Given the description of an element on the screen output the (x, y) to click on. 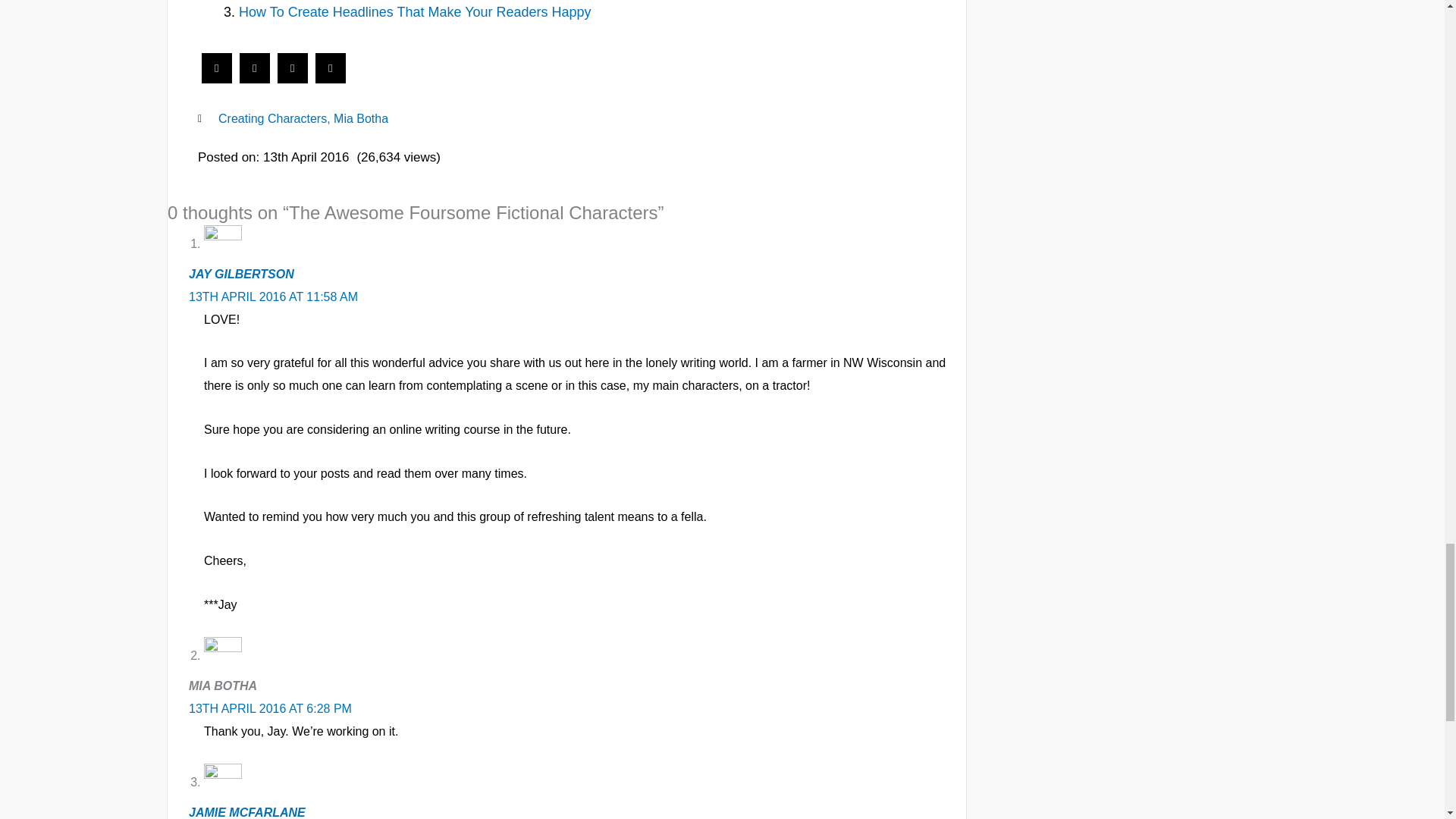
Share on Facebook (216, 78)
Share to LinkedIn (292, 78)
Share on Pinterest (330, 78)
Share on Twitter (254, 78)
